Given the description of an element on the screen output the (x, y) to click on. 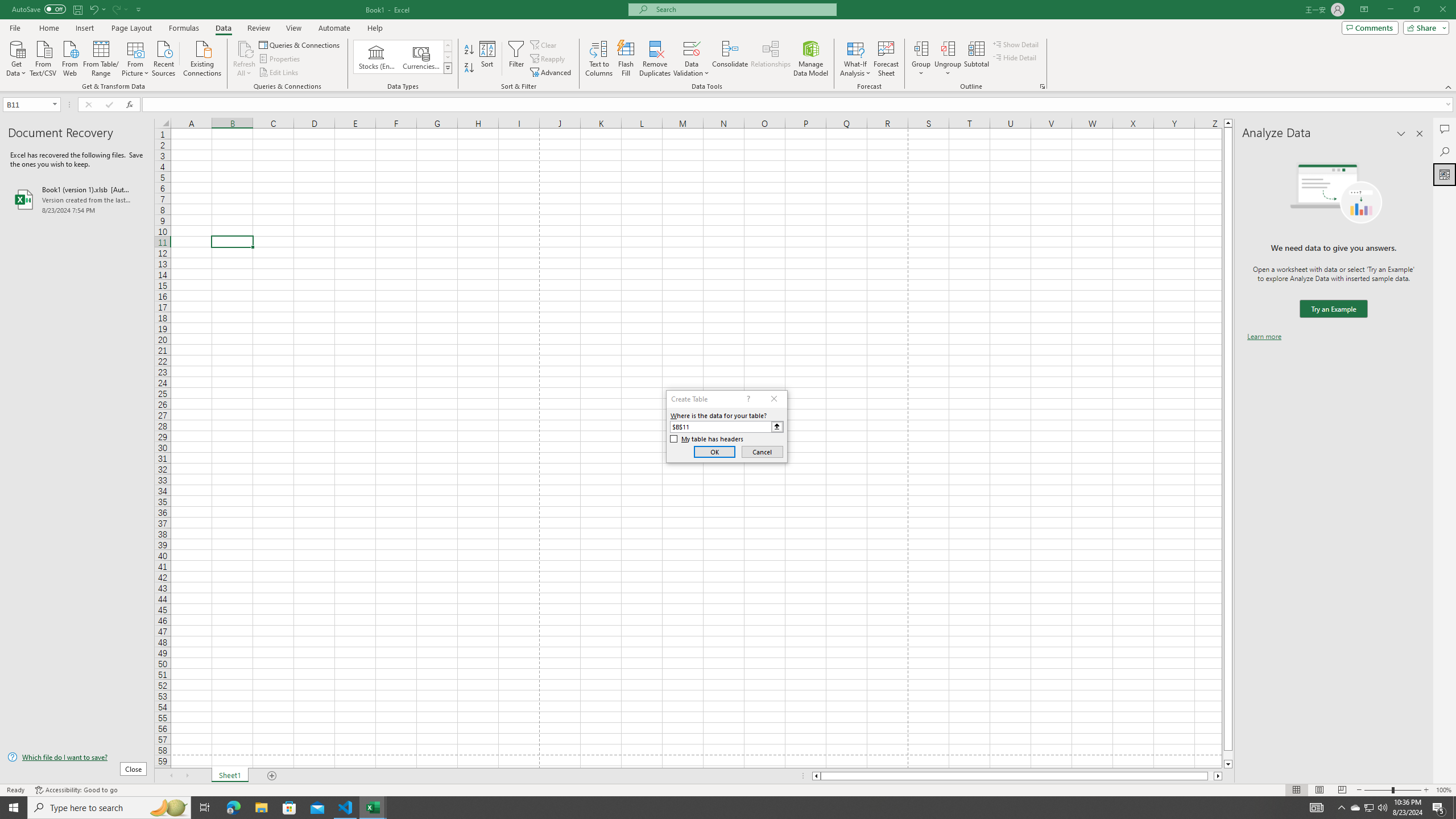
From Web (69, 57)
Class: MsoCommandBar (728, 45)
Get Data (16, 57)
Recent Sources (163, 57)
Relationships (770, 58)
From Table/Range (100, 57)
